Given the description of an element on the screen output the (x, y) to click on. 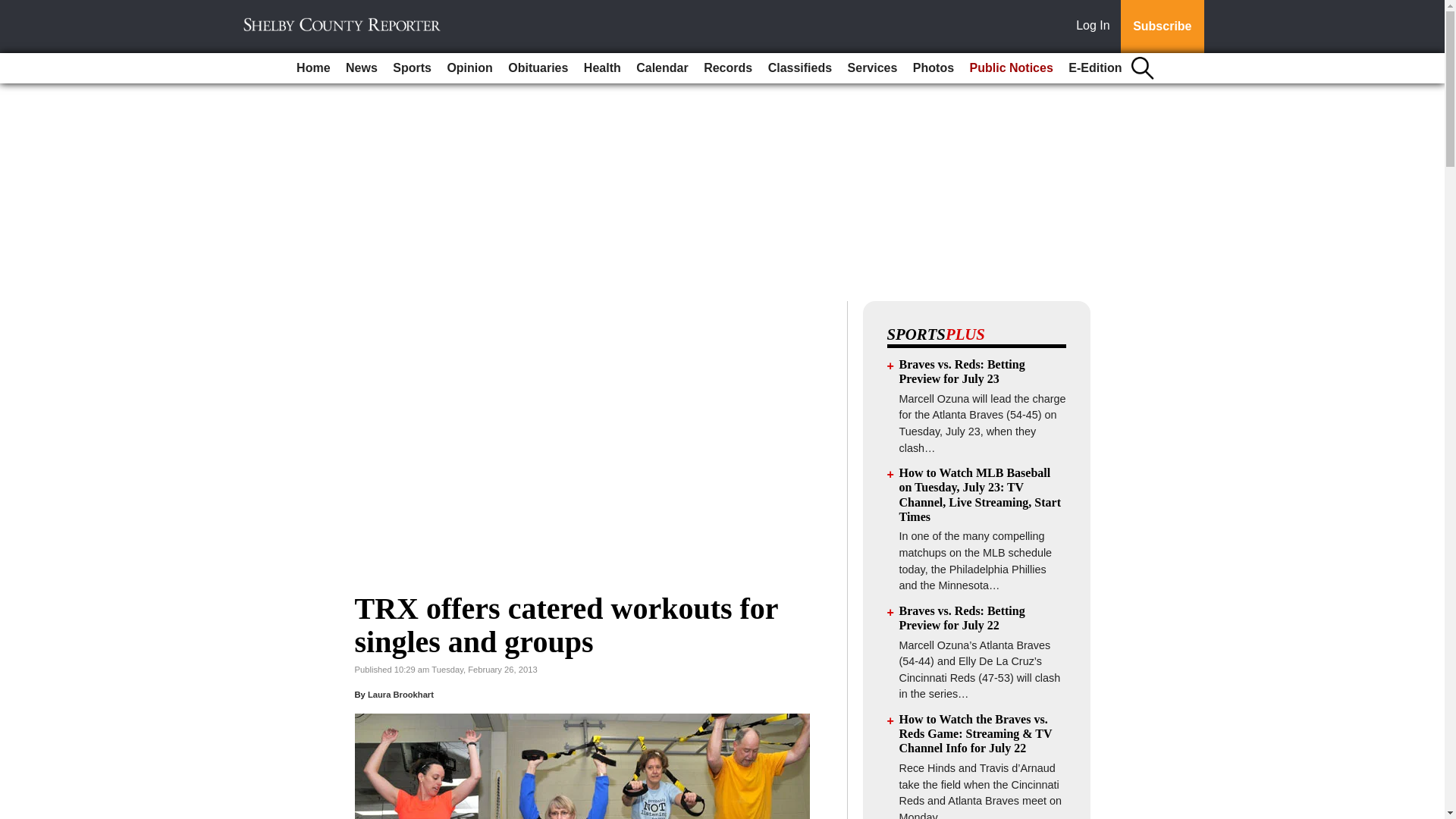
Sports (412, 68)
Home (312, 68)
Subscribe (1162, 26)
News (361, 68)
Calendar (662, 68)
Opinion (469, 68)
Services (872, 68)
Obituaries (537, 68)
Health (602, 68)
Classifieds (799, 68)
Log In (1095, 26)
Records (727, 68)
